Given the description of an element on the screen output the (x, y) to click on. 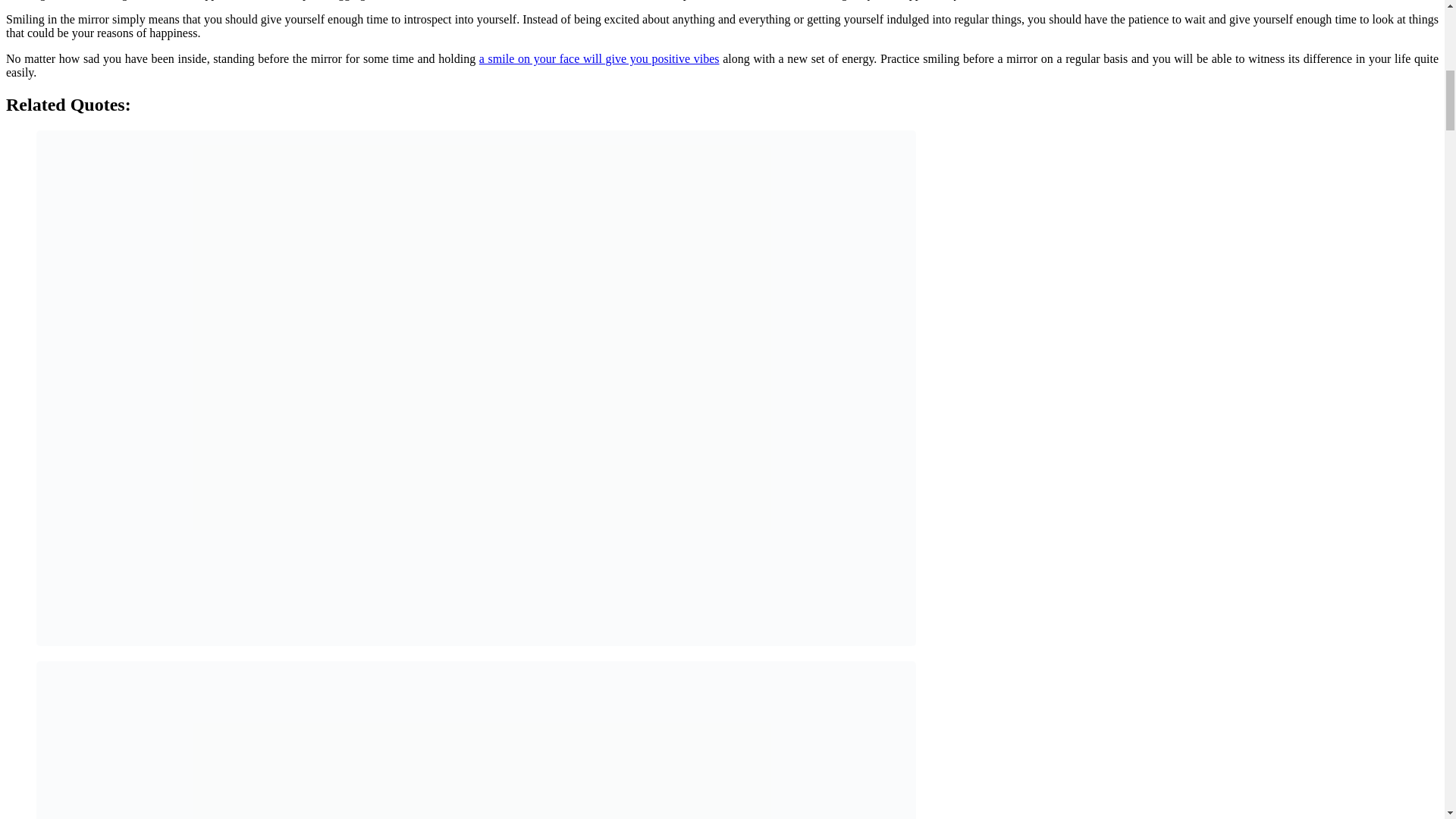
Smile Quotes And Sayings (599, 58)
a smile on your face will give you positive vibes (599, 58)
